Given the description of an element on the screen output the (x, y) to click on. 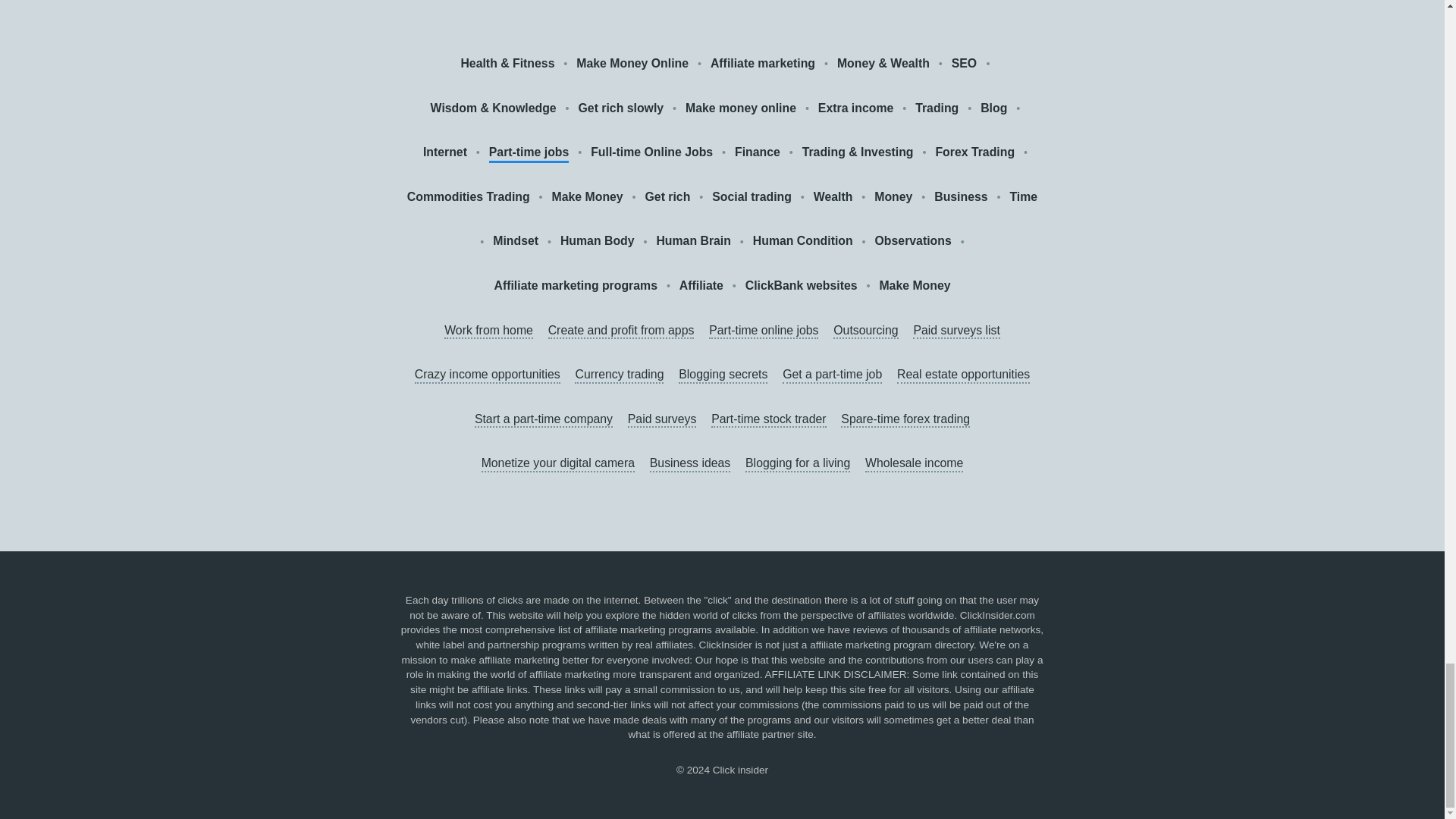
Make money online (740, 108)
Make Money Online (632, 63)
Money (893, 197)
Commodities Trading (468, 197)
Internet (445, 152)
Trading (936, 108)
Get rich slowly (620, 108)
Affiliate marketing (762, 63)
Extra income (855, 108)
Get rich (667, 197)
